Given the description of an element on the screen output the (x, y) to click on. 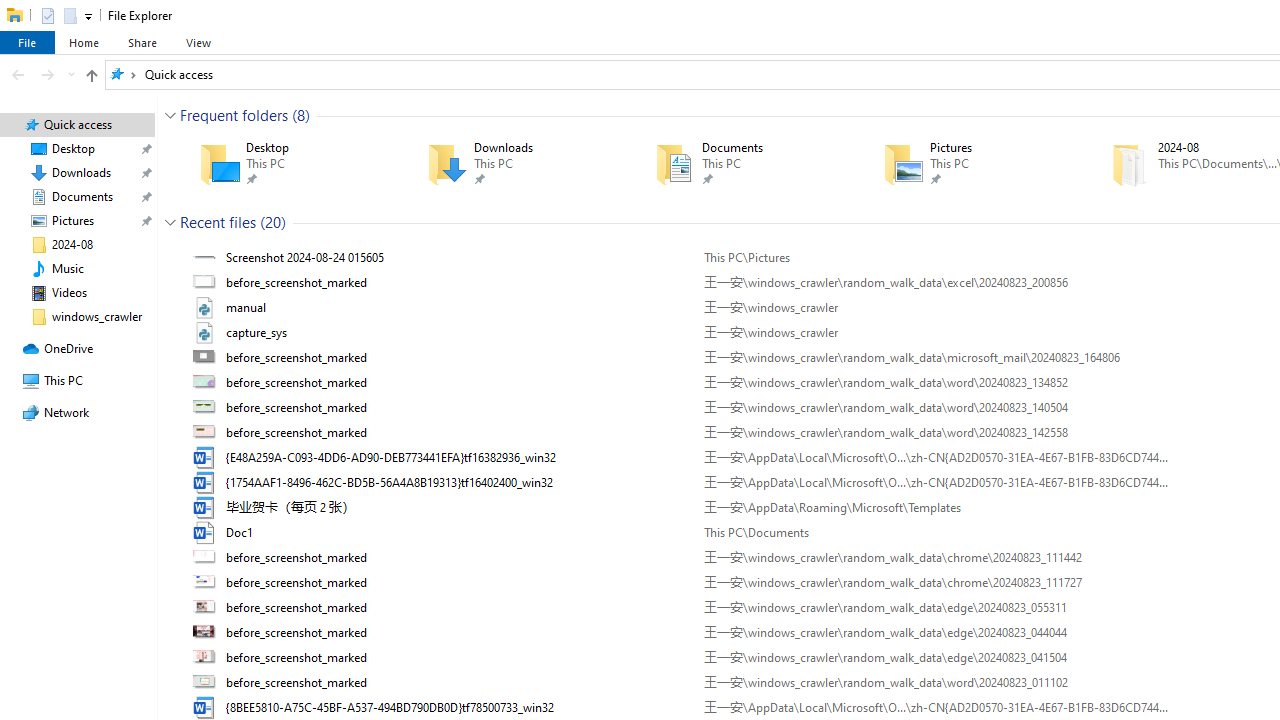
Quick access (178, 74)
Back (Alt + Left Arrow) (17, 74)
Up band toolbar (91, 78)
Home (83, 42)
Path (936, 683)
Desktop (284, 164)
Count (273, 222)
Navigation buttons (40, 74)
Recent locations (70, 74)
View (198, 42)
